Given the description of an element on the screen output the (x, y) to click on. 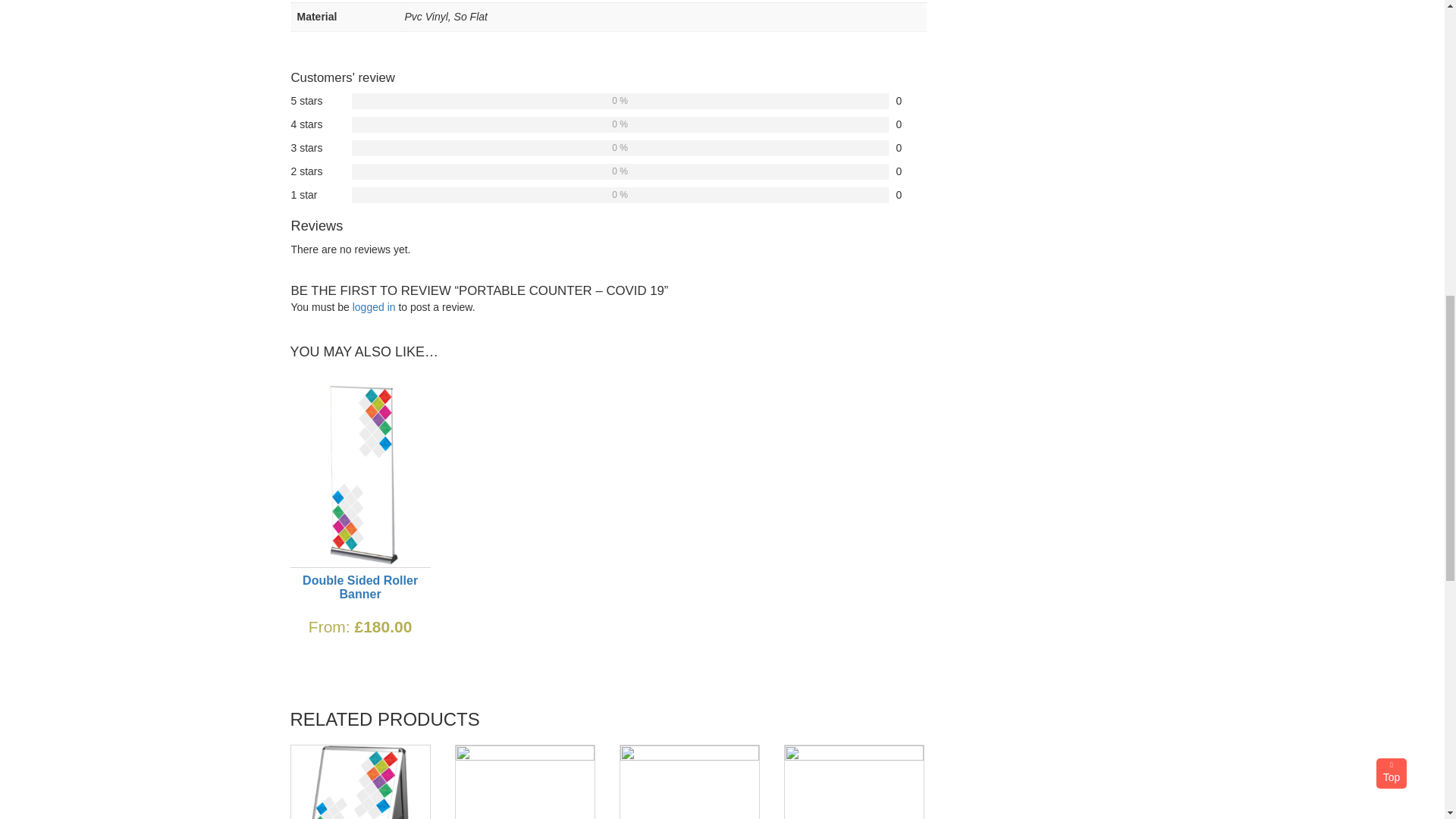
logged in (374, 306)
